Given the description of an element on the screen output the (x, y) to click on. 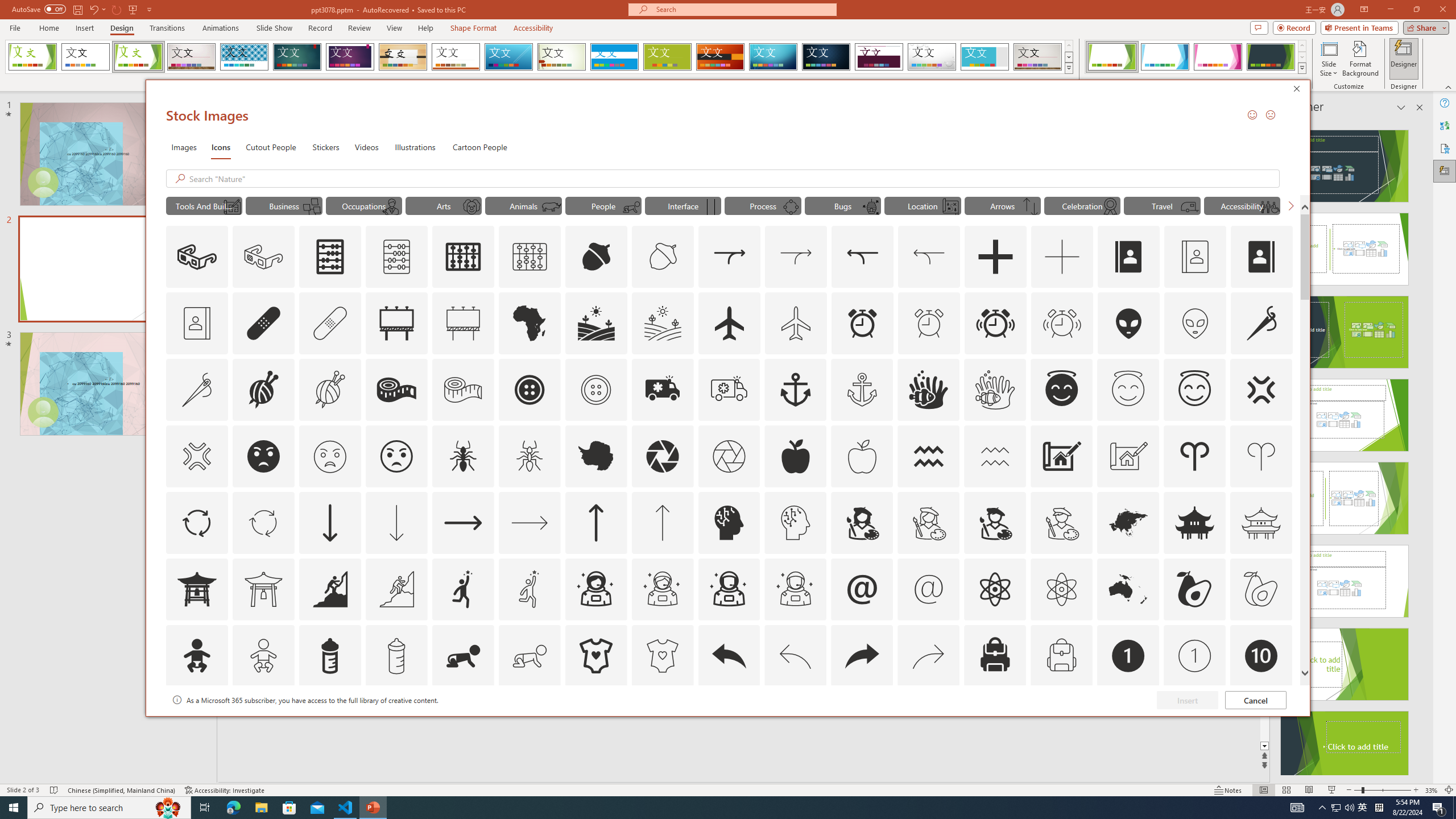
AutomationID: Icons_AlarmRinging (995, 323)
AutomationID: Icons_AsianTemple1 (196, 588)
Banded (614, 56)
AutomationID: Icons_AstronautFemale_M (662, 588)
AutomationID: Icons_BabyOnesie_M (662, 655)
Running applications (700, 807)
"Business" Icons. (283, 205)
AutomationID: Icons_Australia (1128, 588)
AutomationID: Icons_Acquisition_RTL_M (928, 256)
AutomationID: Icons_Ambulance_M (729, 389)
